Given the description of an element on the screen output the (x, y) to click on. 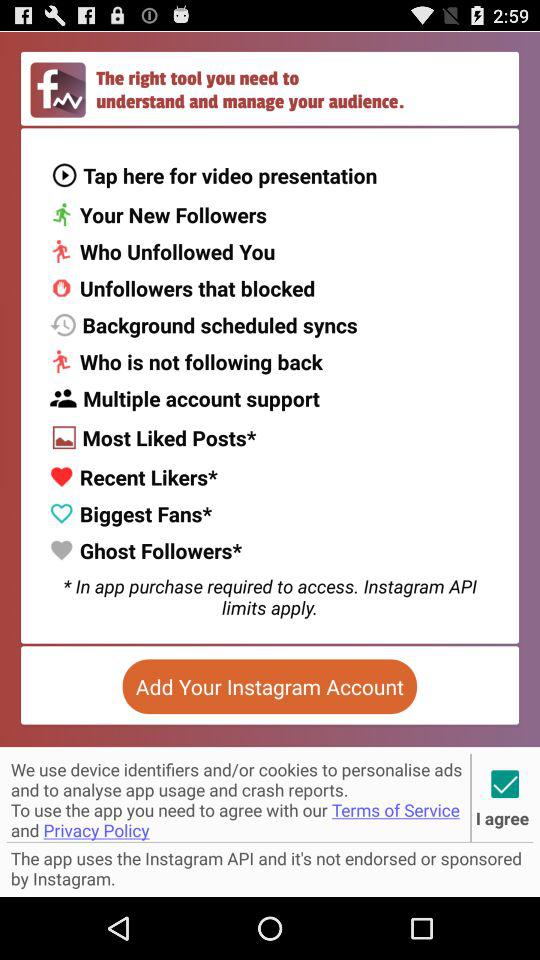
click icon below add your instagram (238, 797)
